Given the description of an element on the screen output the (x, y) to click on. 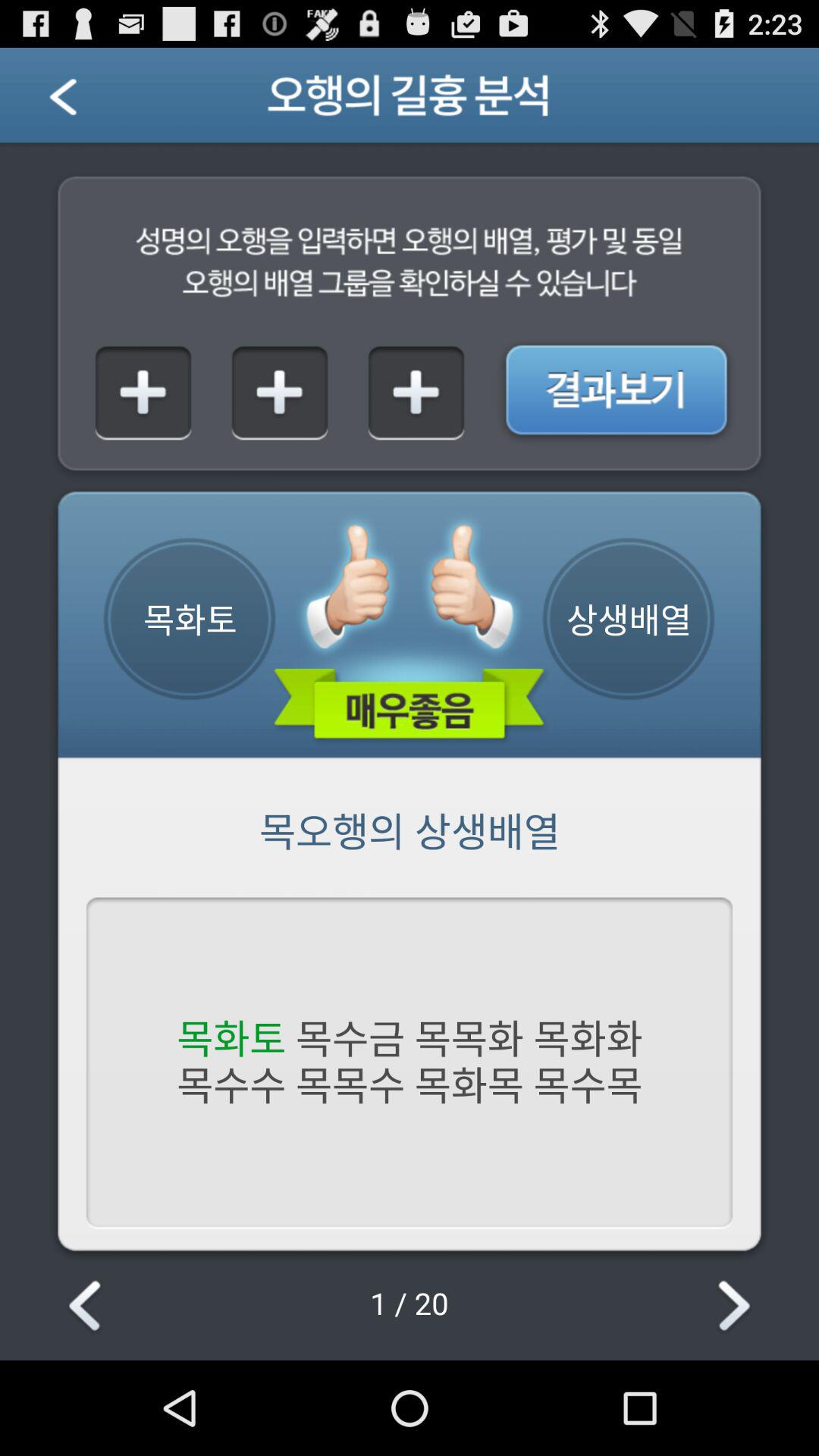
go back (87, 1307)
